Given the description of an element on the screen output the (x, y) to click on. 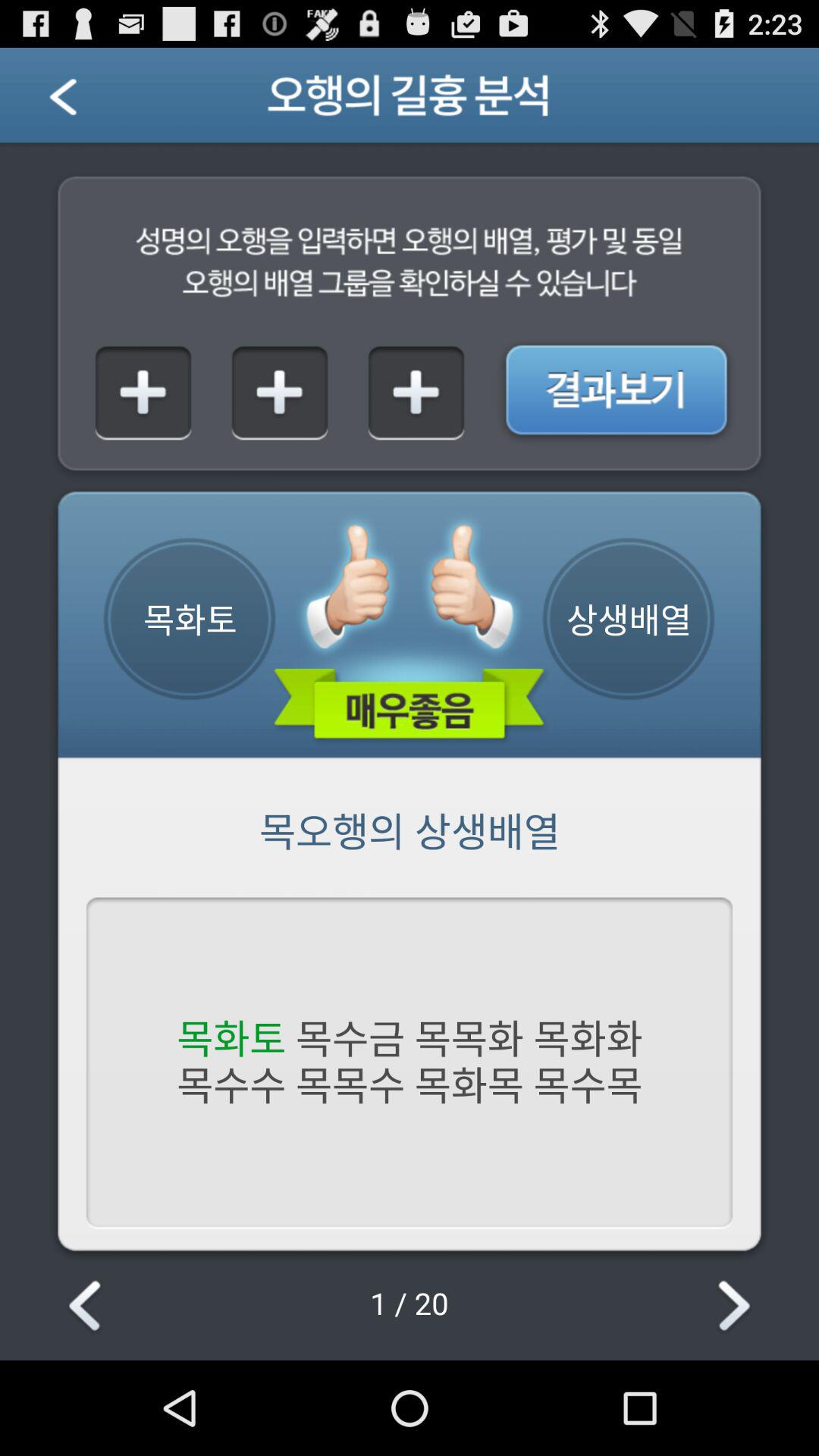
go back (87, 1307)
